Given the description of an element on the screen output the (x, y) to click on. 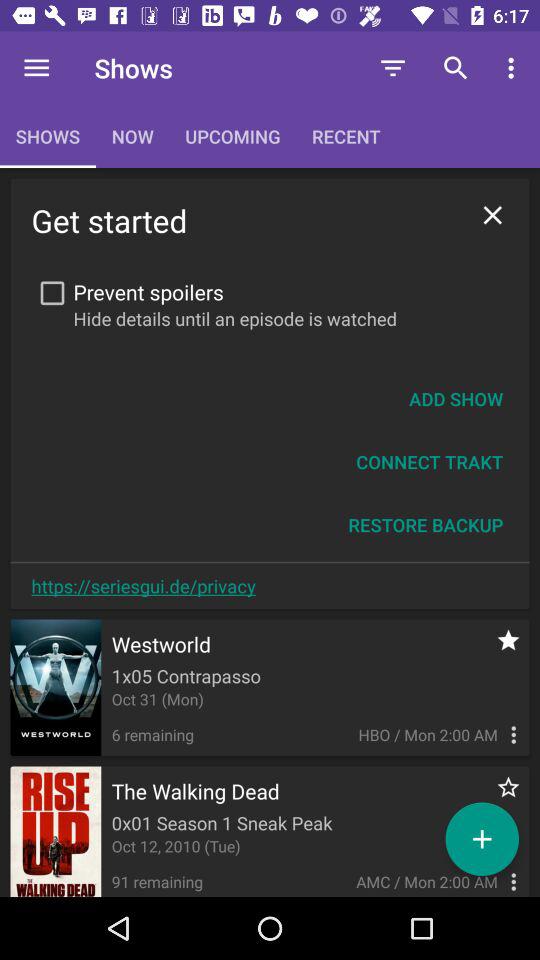
click connect trakt icon (429, 461)
